Given the description of an element on the screen output the (x, y) to click on. 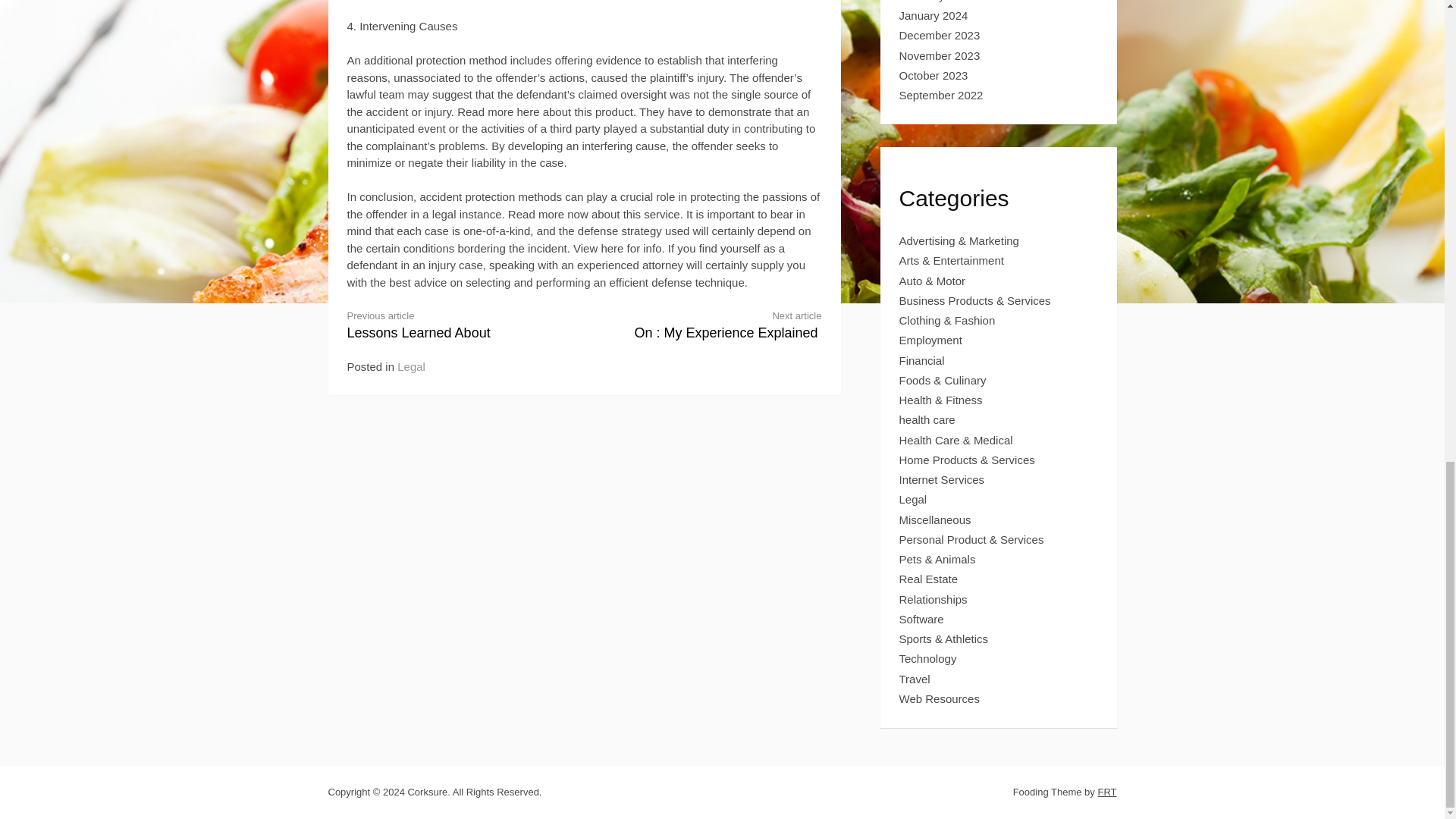
January 2024 (715, 324)
Legal (933, 15)
November 2023 (411, 366)
December 2023 (939, 55)
October 2023 (939, 34)
Employment (453, 324)
February 2024 (933, 74)
September 2022 (930, 339)
